Given the description of an element on the screen output the (x, y) to click on. 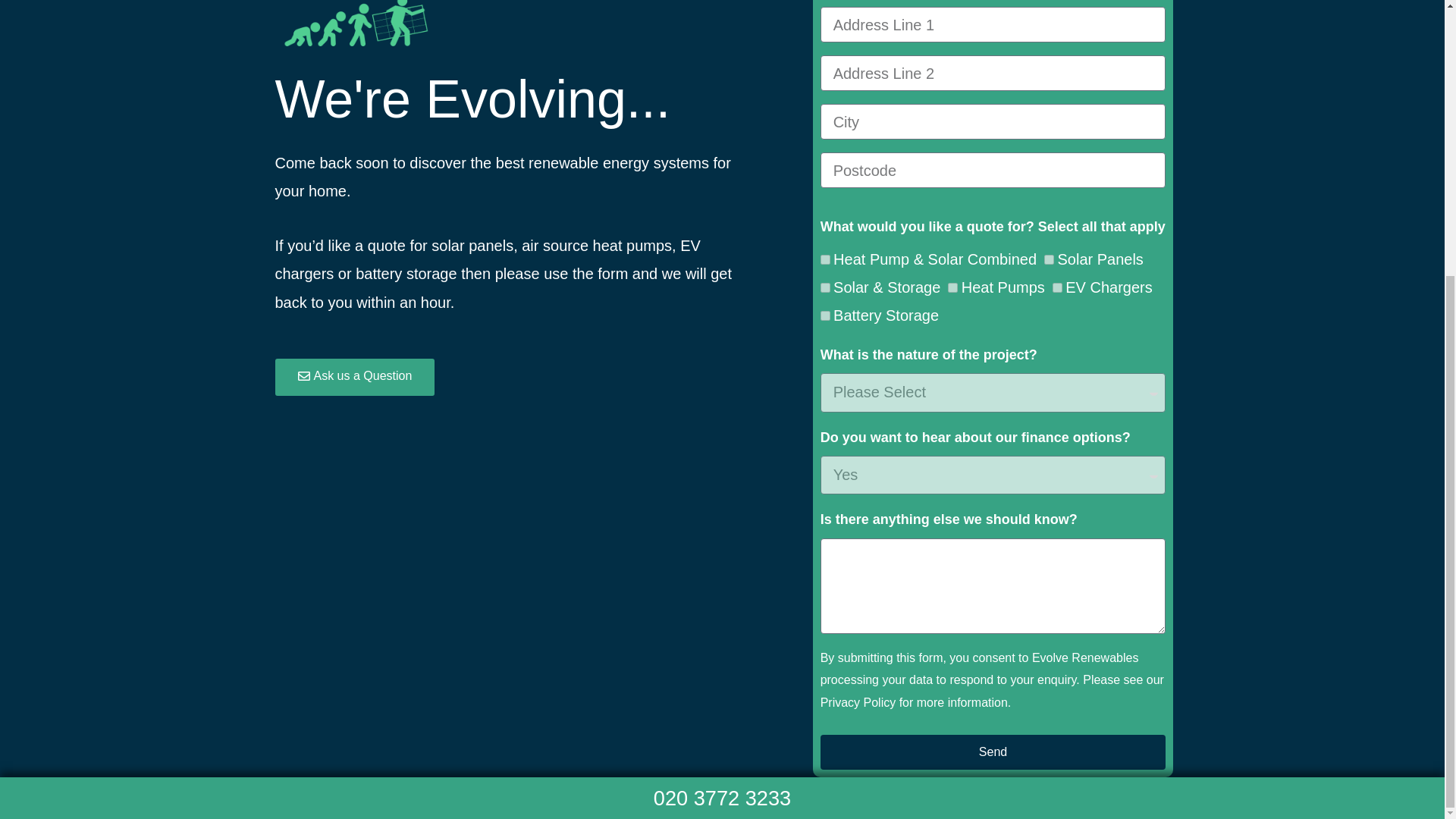
EV Chargers (1057, 287)
Send (993, 751)
Heat Pumps (952, 287)
Battery Storage (825, 316)
Solar Panels (1048, 259)
020 3772 3233 (721, 797)
Ask us a Question (354, 376)
